Given the description of an element on the screen output the (x, y) to click on. 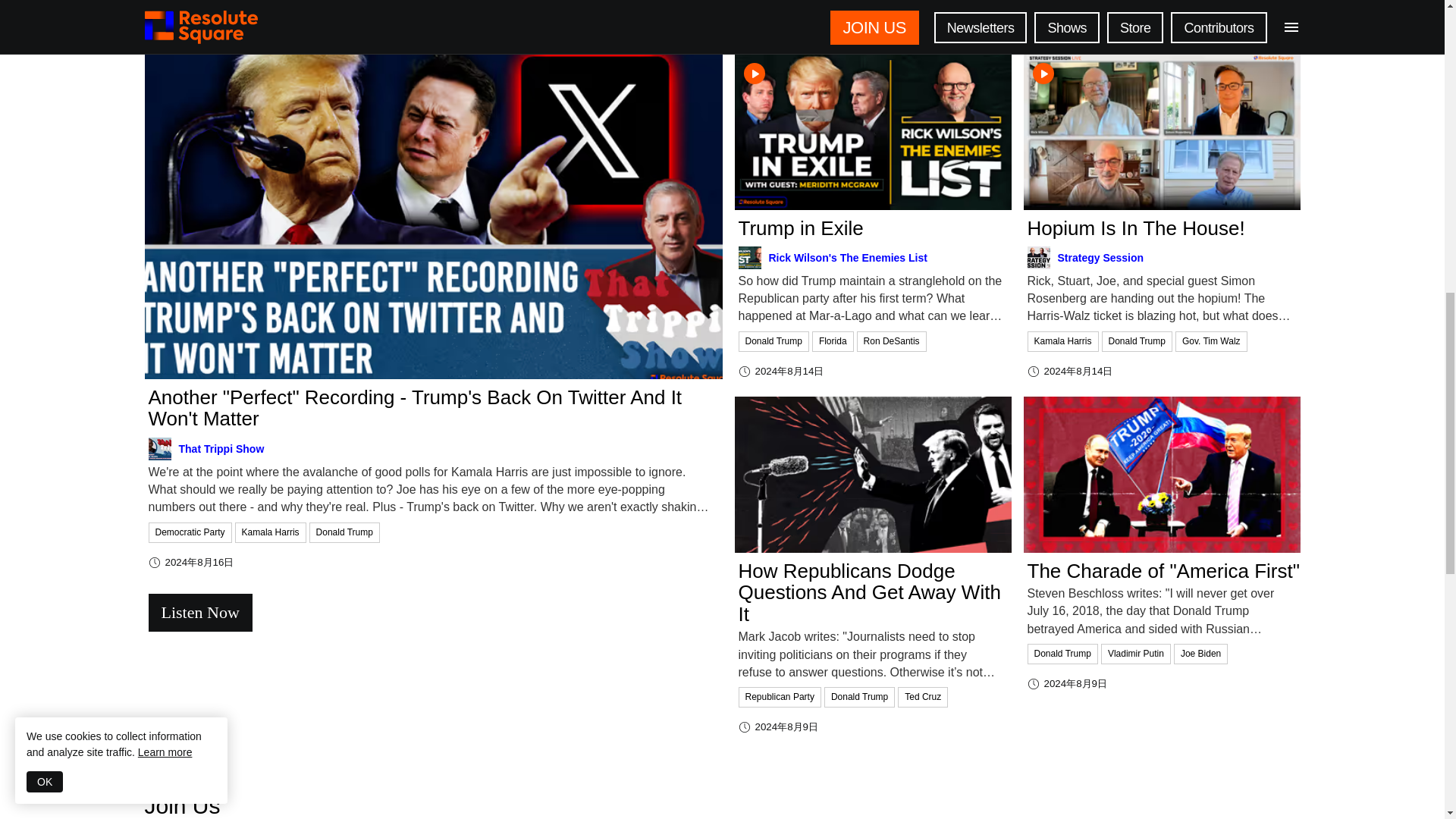
Donald Trump (775, 340)
How Republicans Dodge Questions And Get Away With It (874, 592)
Strategy Session (1163, 257)
That Trippi Show (435, 448)
Kamala Harris (1063, 340)
Rick Wilson's The Enemies List (874, 257)
Listen Now (435, 612)
Donald Trump (345, 530)
Gov. Tim Walz (1212, 340)
Ron DeSantis (893, 340)
